Given the description of an element on the screen output the (x, y) to click on. 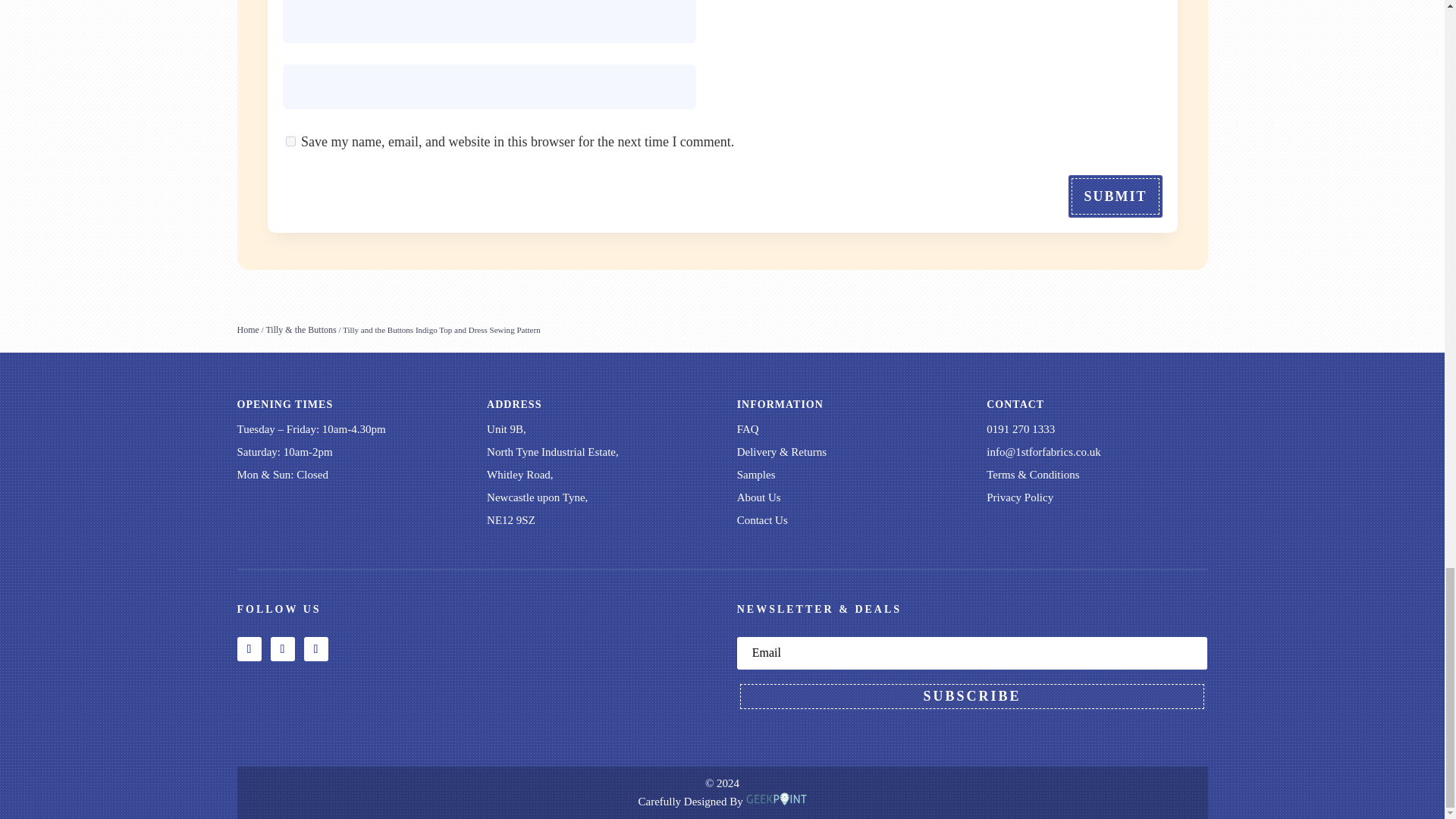
yes (290, 141)
